Given the description of an element on the screen output the (x, y) to click on. 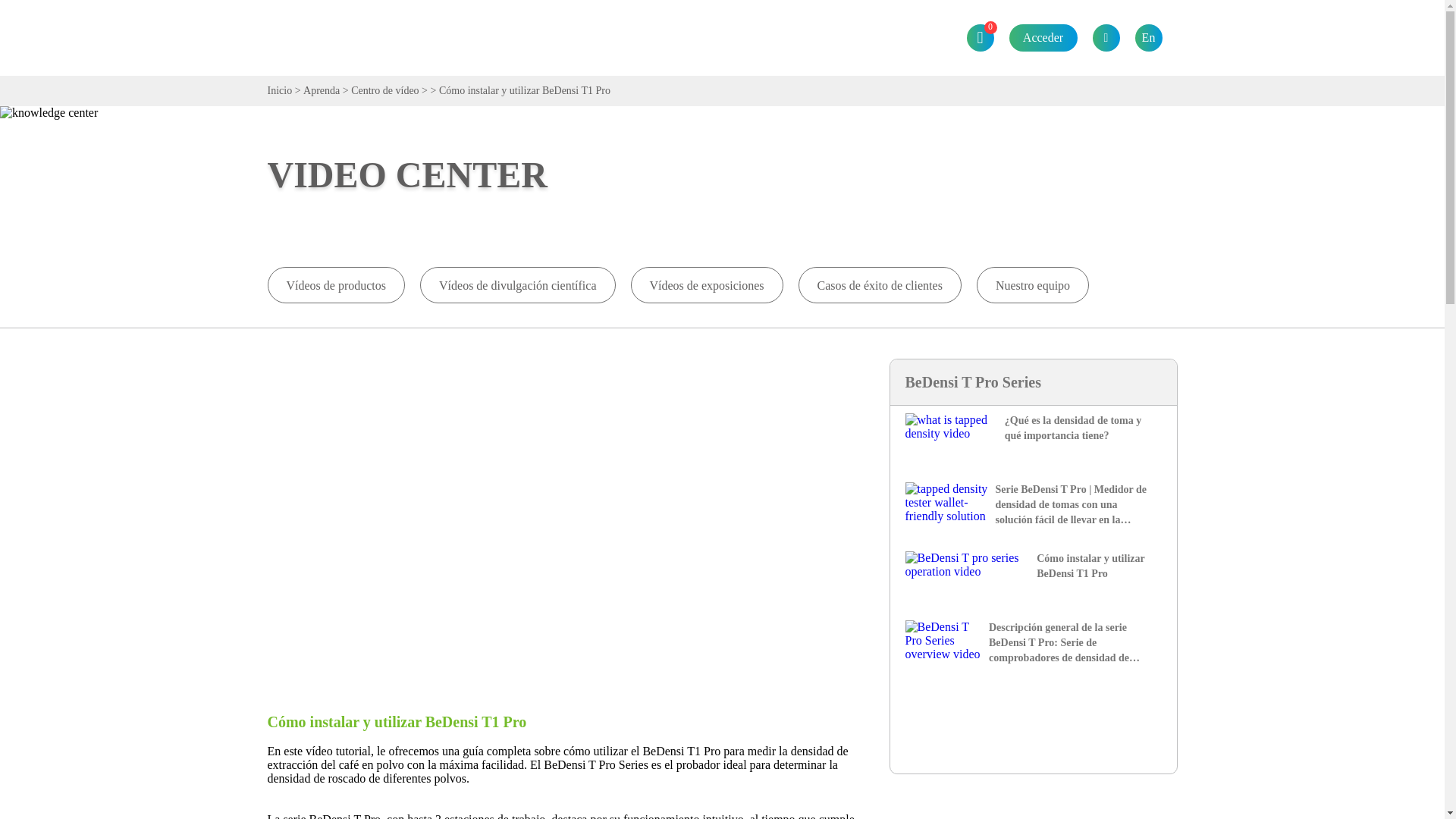
Industria (548, 38)
